Given the description of an element on the screen output the (x, y) to click on. 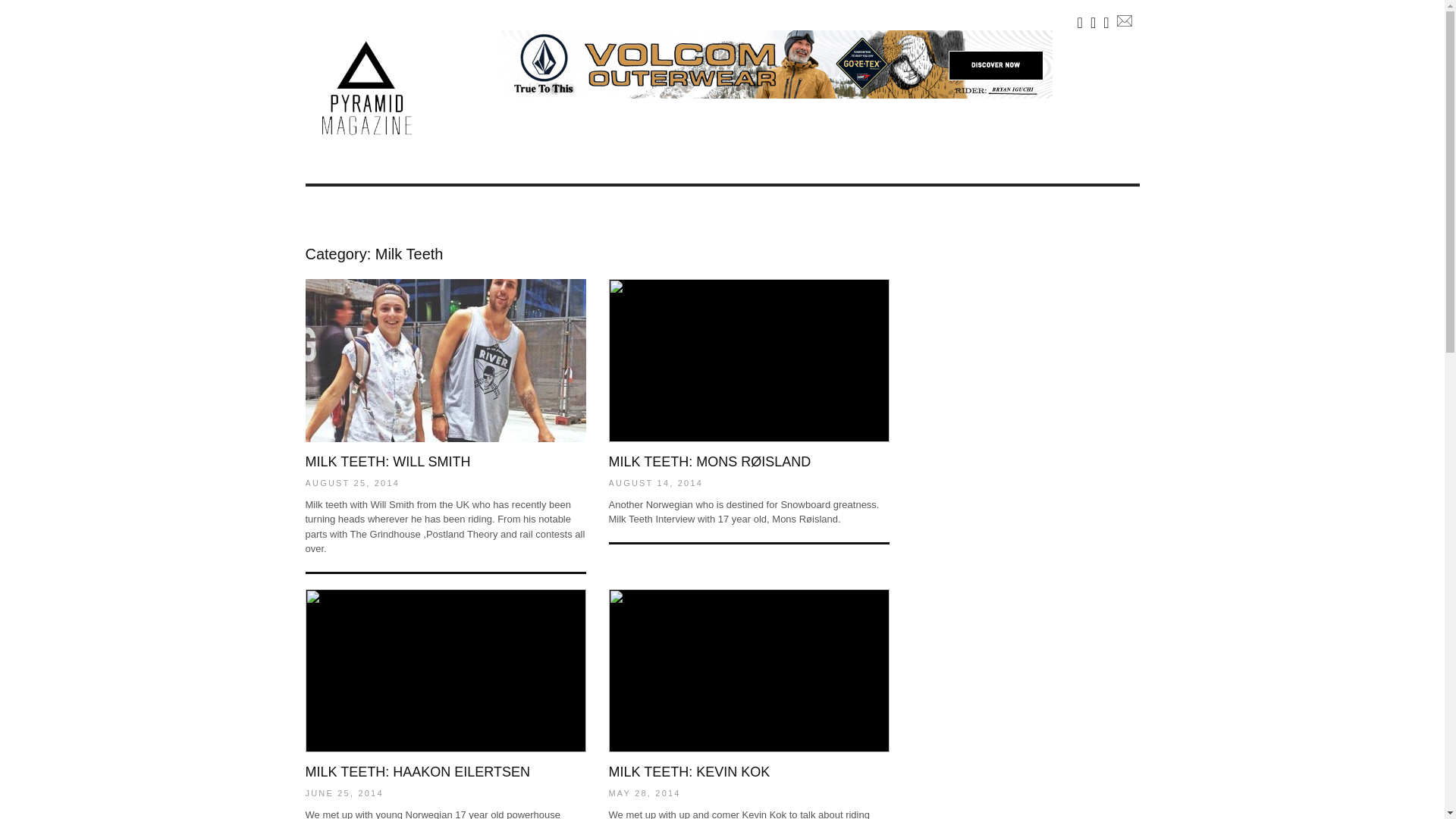
MILK TEETH: HAAKON EILERTSEN (416, 771)
MILK TEETH: WILL SMITH (387, 461)
Pyramid Mag (365, 138)
MILK TEETH: KEVIN KOK (689, 771)
728x90 (776, 64)
